Given the description of an element on the screen output the (x, y) to click on. 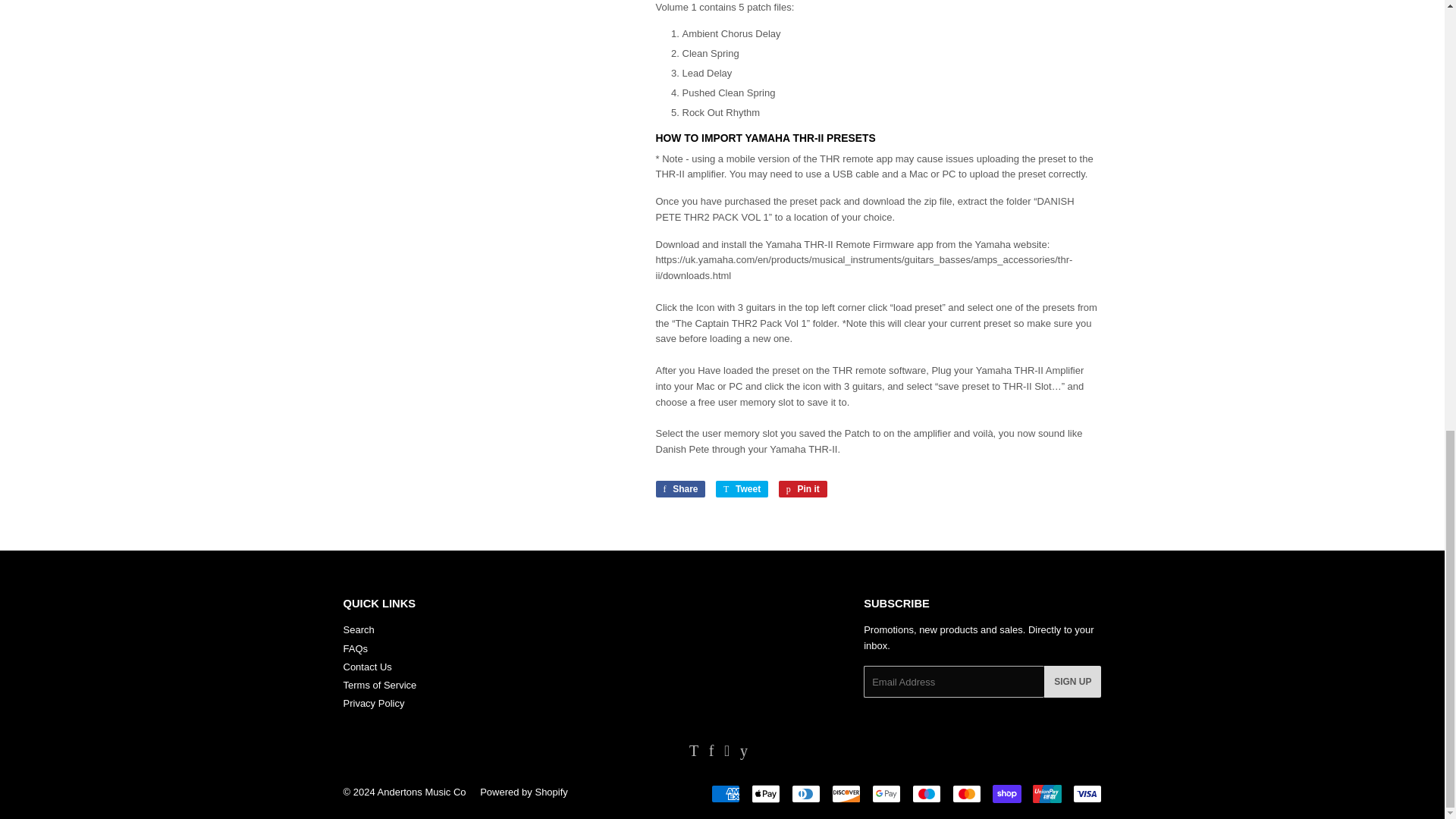
Shop Pay (1005, 793)
Mastercard (966, 793)
Maestro (925, 793)
Tweet on Twitter (742, 488)
Visa (1085, 793)
Share on Facebook (679, 488)
Discover (845, 793)
Diners Club (806, 793)
American Express (725, 793)
Union Pay (1046, 793)
Apple Pay (764, 793)
Pin on Pinterest (802, 488)
Google Pay (886, 793)
